Given the description of an element on the screen output the (x, y) to click on. 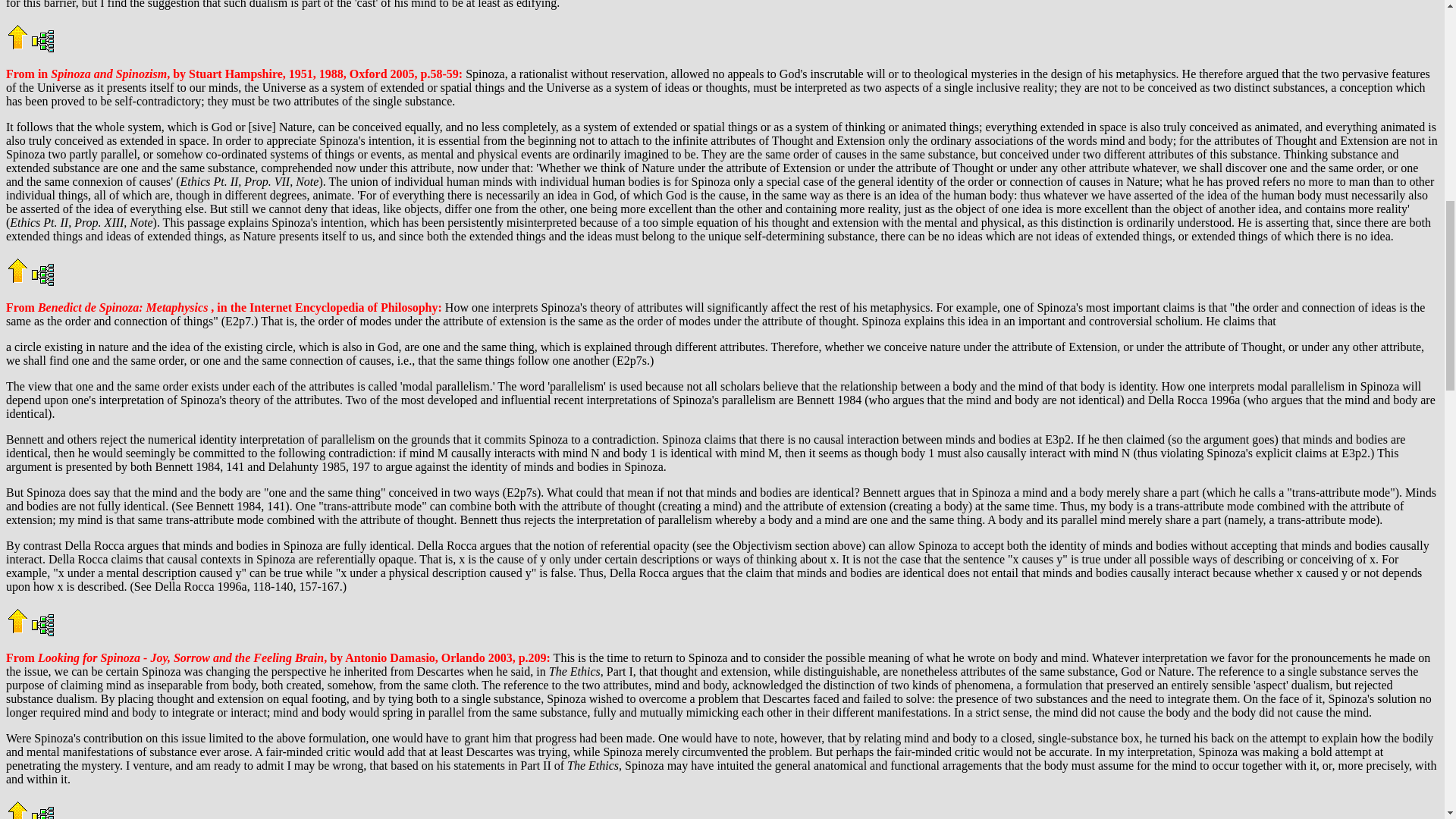
From Benedict de Spinoza: Metaphysics (108, 307)
